Given the description of an element on the screen output the (x, y) to click on. 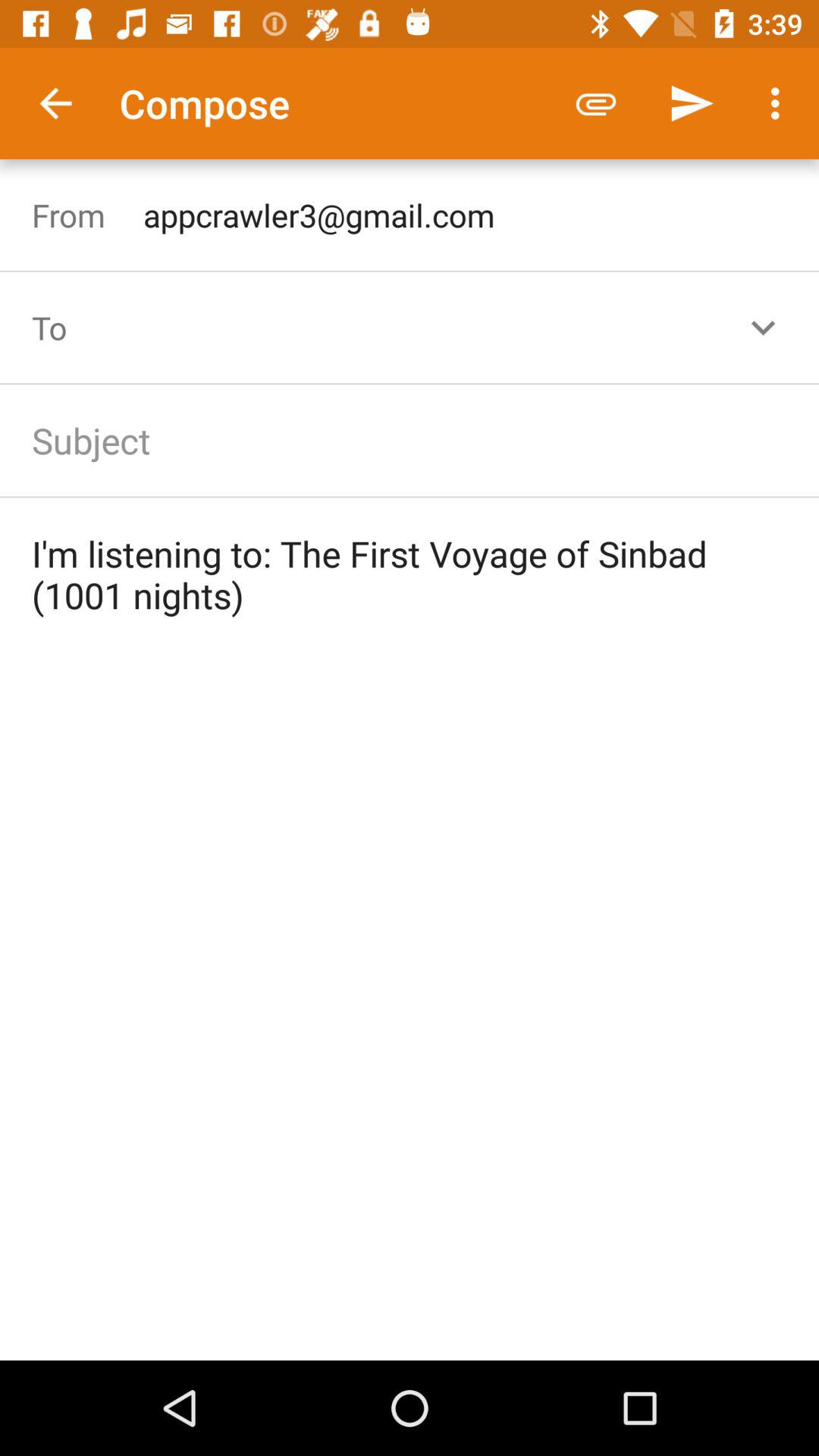
swipe to the i m listening icon (409, 574)
